Given the description of an element on the screen output the (x, y) to click on. 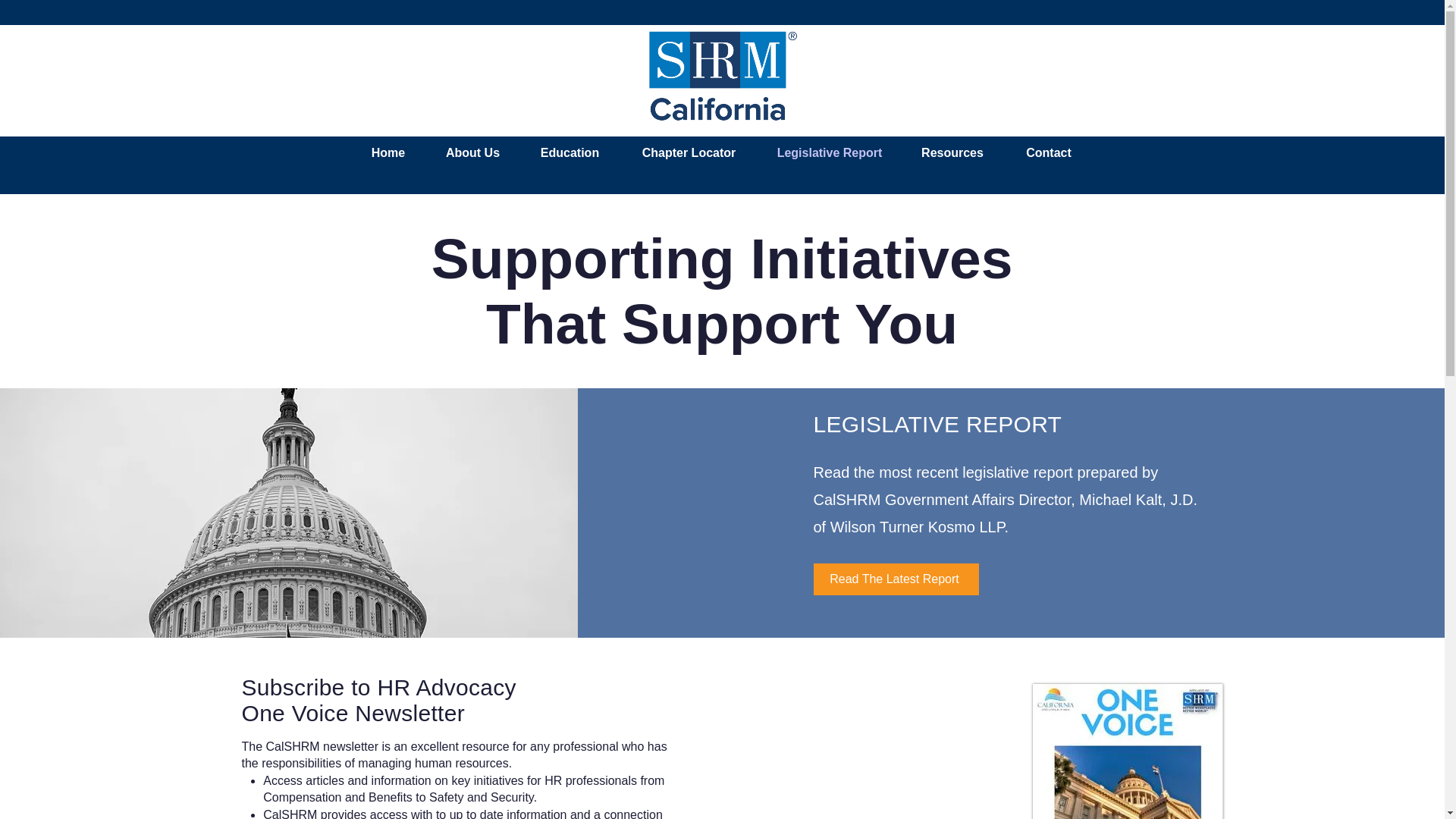
Education (569, 152)
Read The Latest Report (895, 579)
4abcf404ec1b63bb92236e24bbffbb86.jpg (1127, 751)
Legislative Report (829, 152)
Home (387, 152)
Resources (952, 152)
Contact (1049, 152)
Chapter Locator (689, 152)
About Us (472, 152)
